Given the description of an element on the screen output the (x, y) to click on. 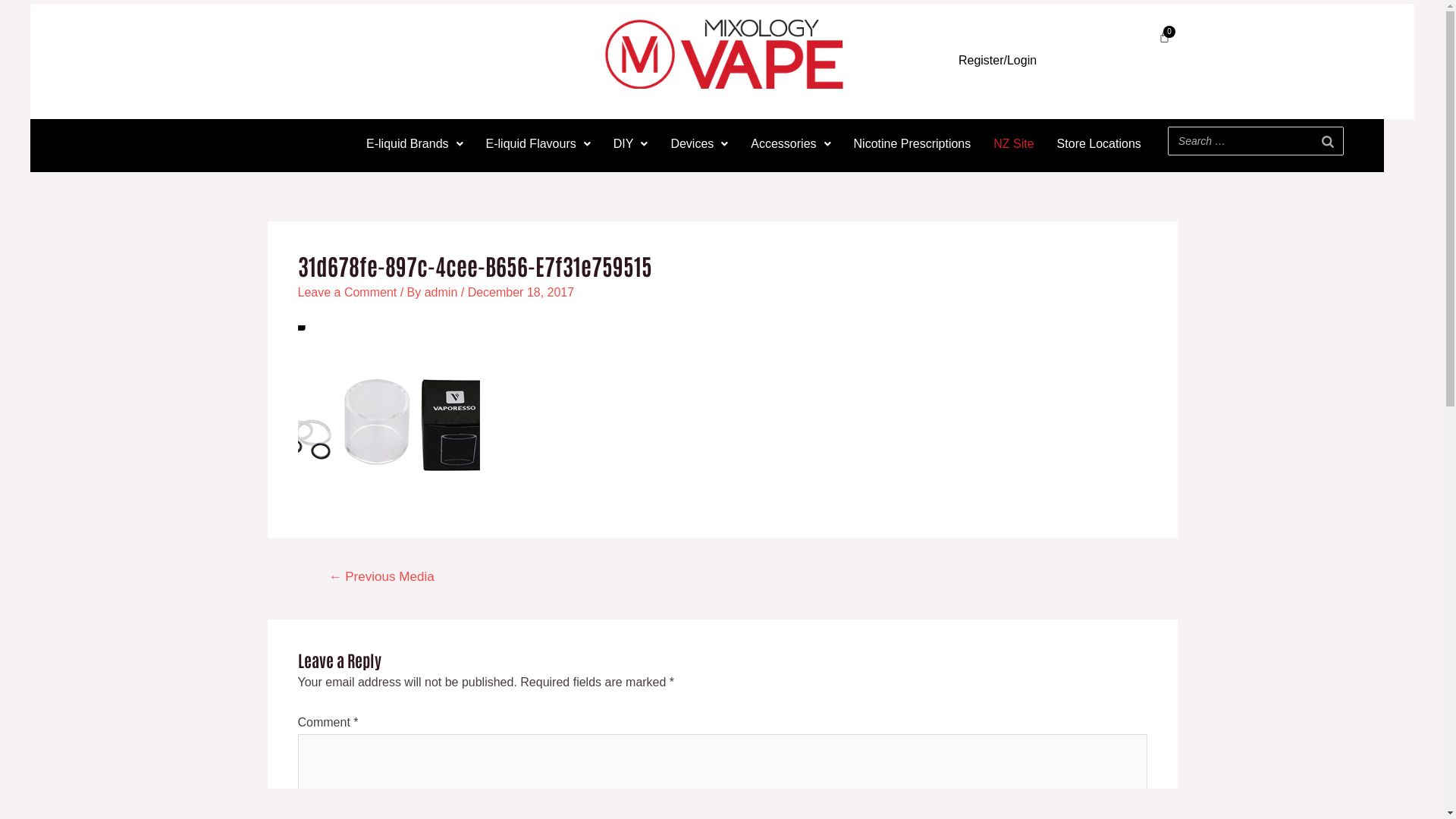
Devices Element type: text (698, 143)
E-liquid Flavours Element type: text (538, 143)
Register/Login Element type: text (997, 59)
admin Element type: text (442, 291)
E-liquid Brands Element type: text (414, 143)
NZ Site Element type: text (1013, 143)
Accessories Element type: text (790, 143)
Cart Element type: text (1164, 36)
DIY Element type: text (630, 143)
Nicotine Prescriptions Element type: text (912, 143)
Store Locations Element type: text (1098, 143)
Leave a Comment Element type: text (346, 291)
